Given the description of an element on the screen output the (x, y) to click on. 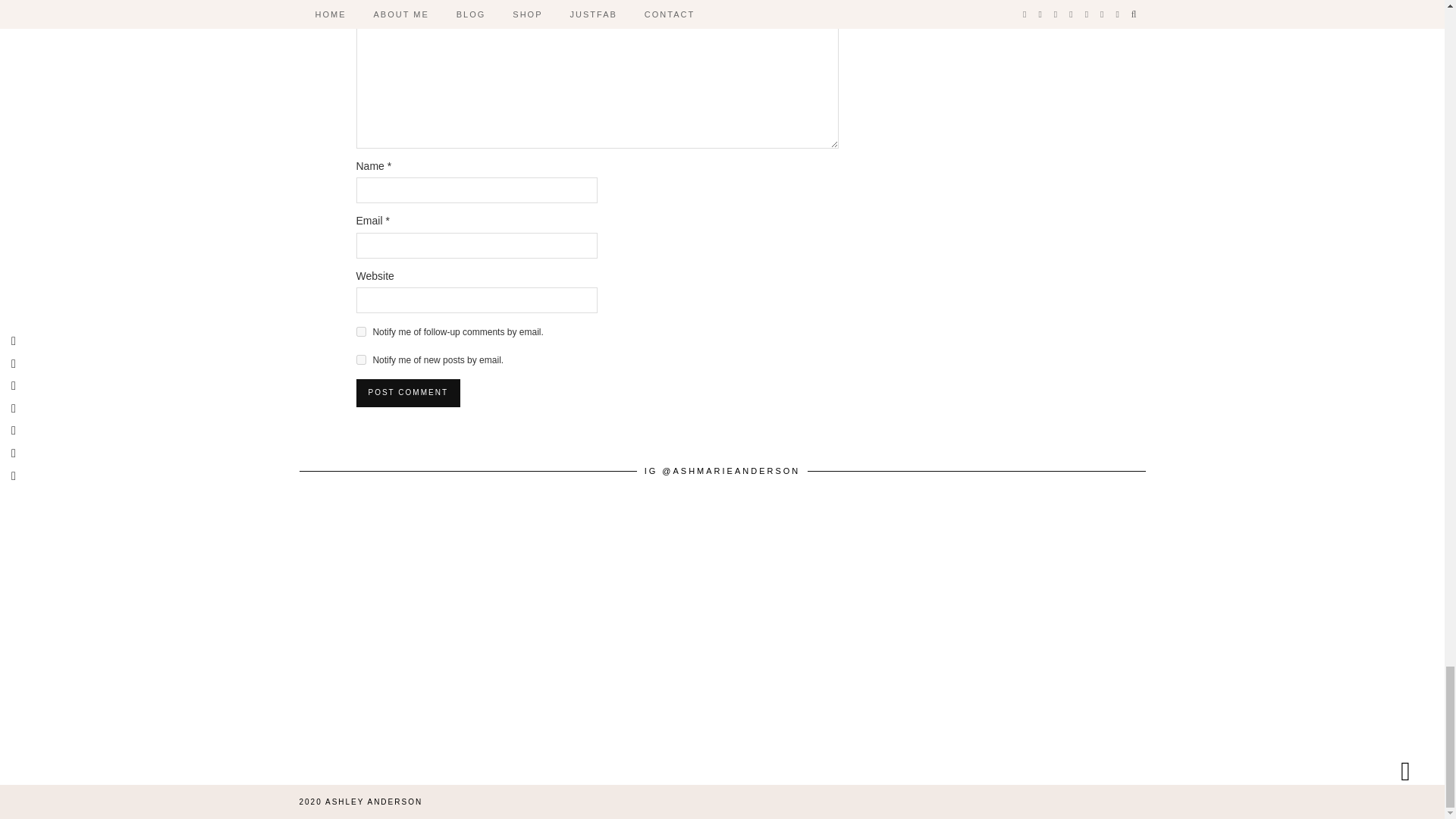
subscribe (361, 359)
subscribe (361, 331)
Post Comment (408, 392)
